Given the description of an element on the screen output the (x, y) to click on. 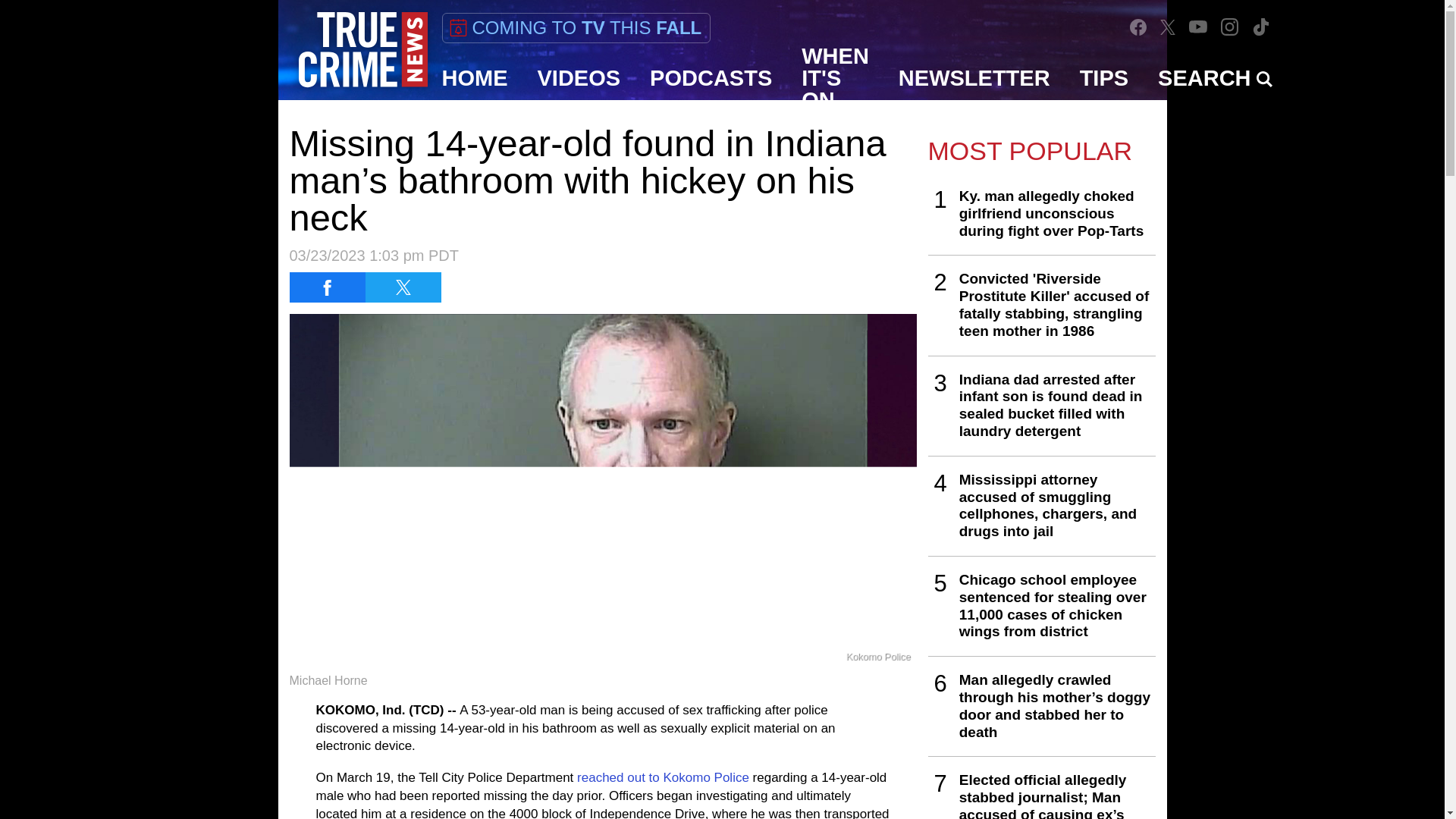
YouTube (1198, 26)
Instagram (1230, 27)
NEWSLETTER (974, 77)
Facebook (1137, 27)
Facebook (1138, 26)
Instagram (1229, 26)
TIPS (1103, 77)
Twitter (1167, 26)
True Crime News (363, 49)
HOME (475, 77)
